Given the description of an element on the screen output the (x, y) to click on. 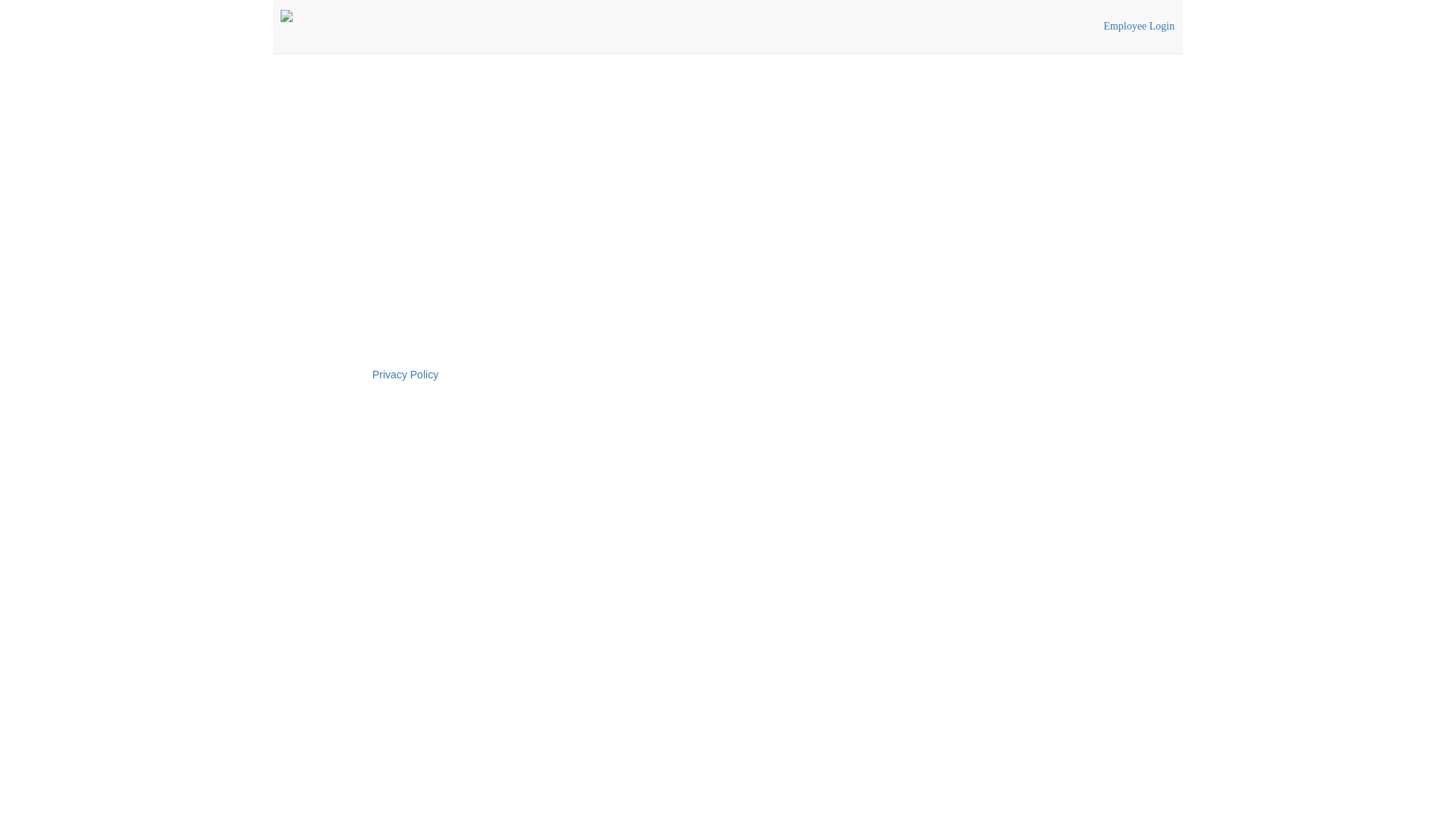
Privacy Policy Element type: text (405, 374)
Employee Login Element type: text (1138, 26)
